Given the description of an element on the screen output the (x, y) to click on. 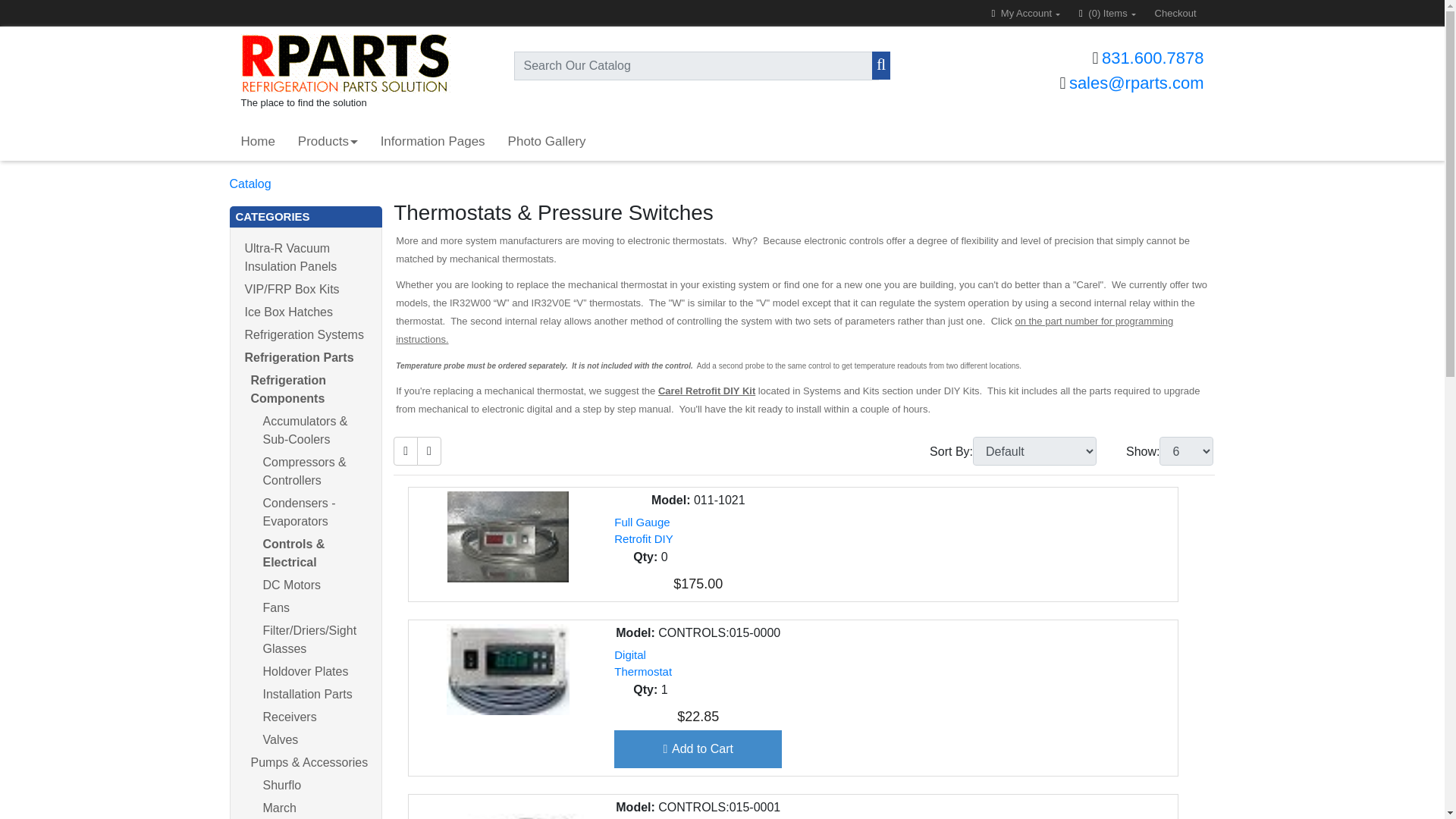
My Account (1025, 12)
Home (256, 141)
Products (327, 141)
 Full Gauge Retrofit DIY Digital Thermostat Kit  (507, 536)
Checkout (1175, 12)
831.600.7878 (1153, 57)
 Carel IR32V - The Original Digital Thermostat  (507, 808)
 Digital Thermostat Mounting Plate  (507, 669)
